Given the description of an element on the screen output the (x, y) to click on. 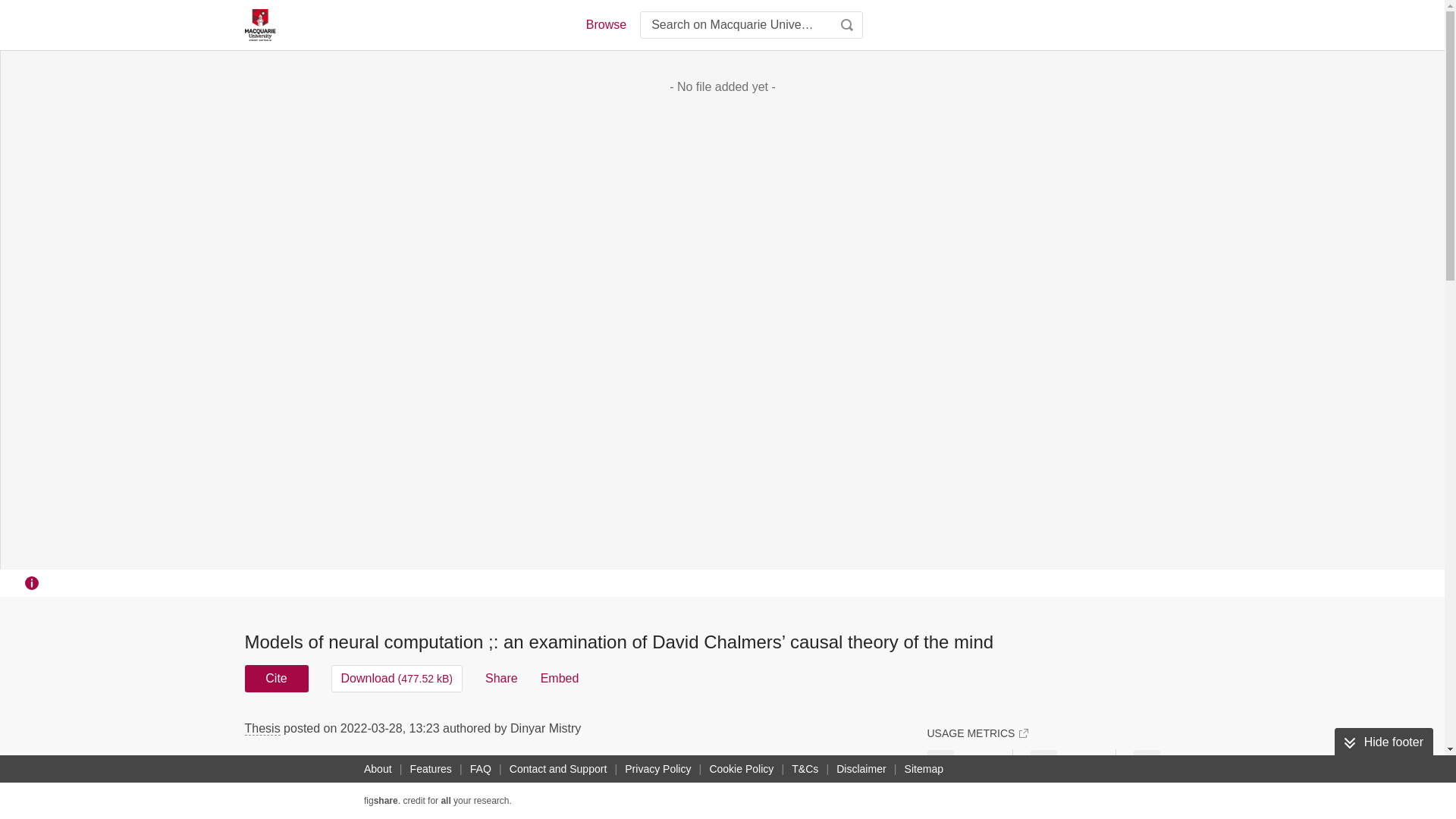
Privacy Policy (657, 769)
Disclaimer (860, 769)
About (377, 769)
FAQ (480, 769)
Hide footer (1383, 742)
USAGE METRICS (976, 732)
Share (501, 678)
Cookie Policy (740, 769)
Features (431, 769)
Cite (275, 678)
